Given the description of an element on the screen output the (x, y) to click on. 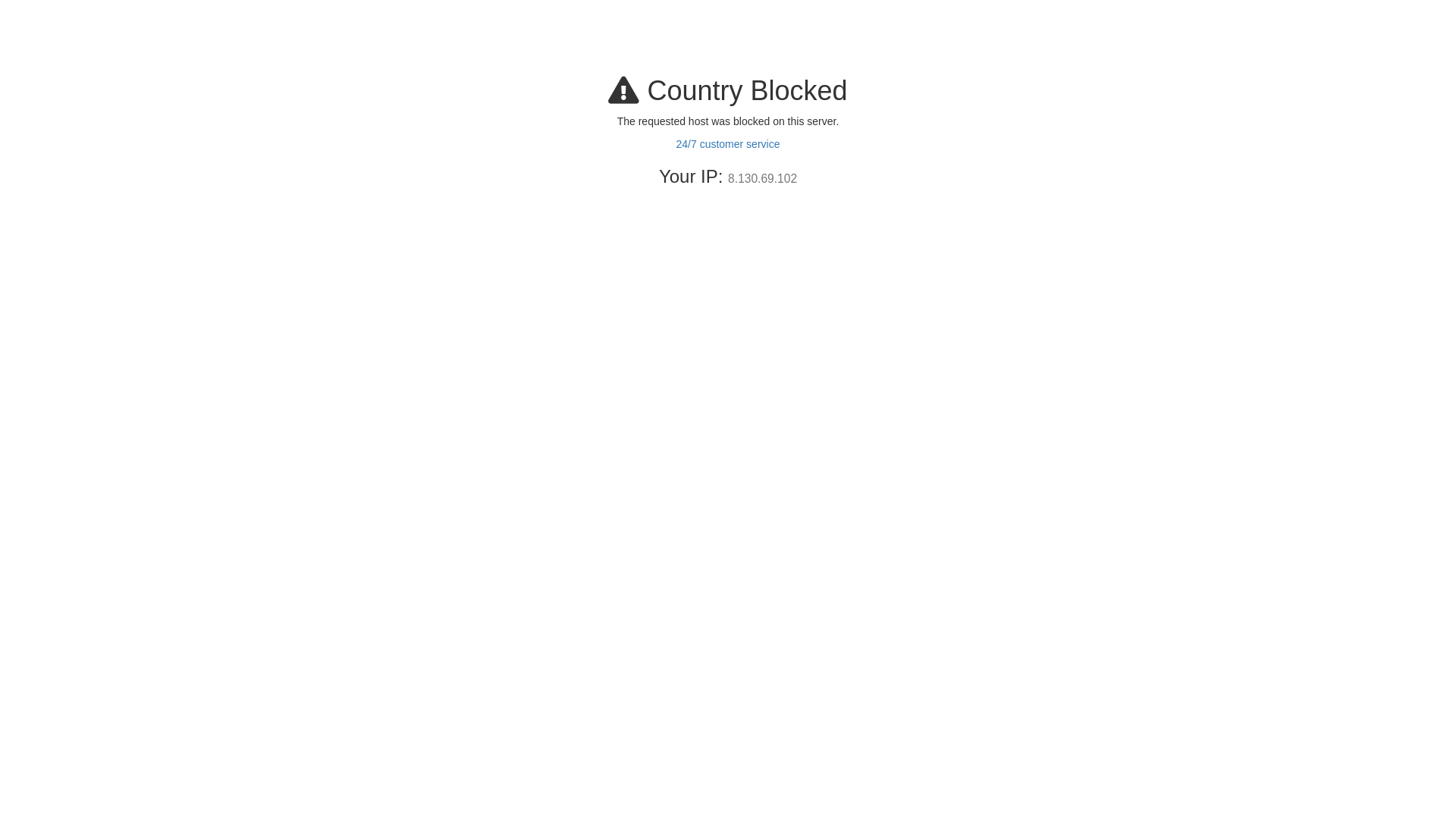
24/7 customer service Element type: text (728, 144)
